Given the description of an element on the screen output the (x, y) to click on. 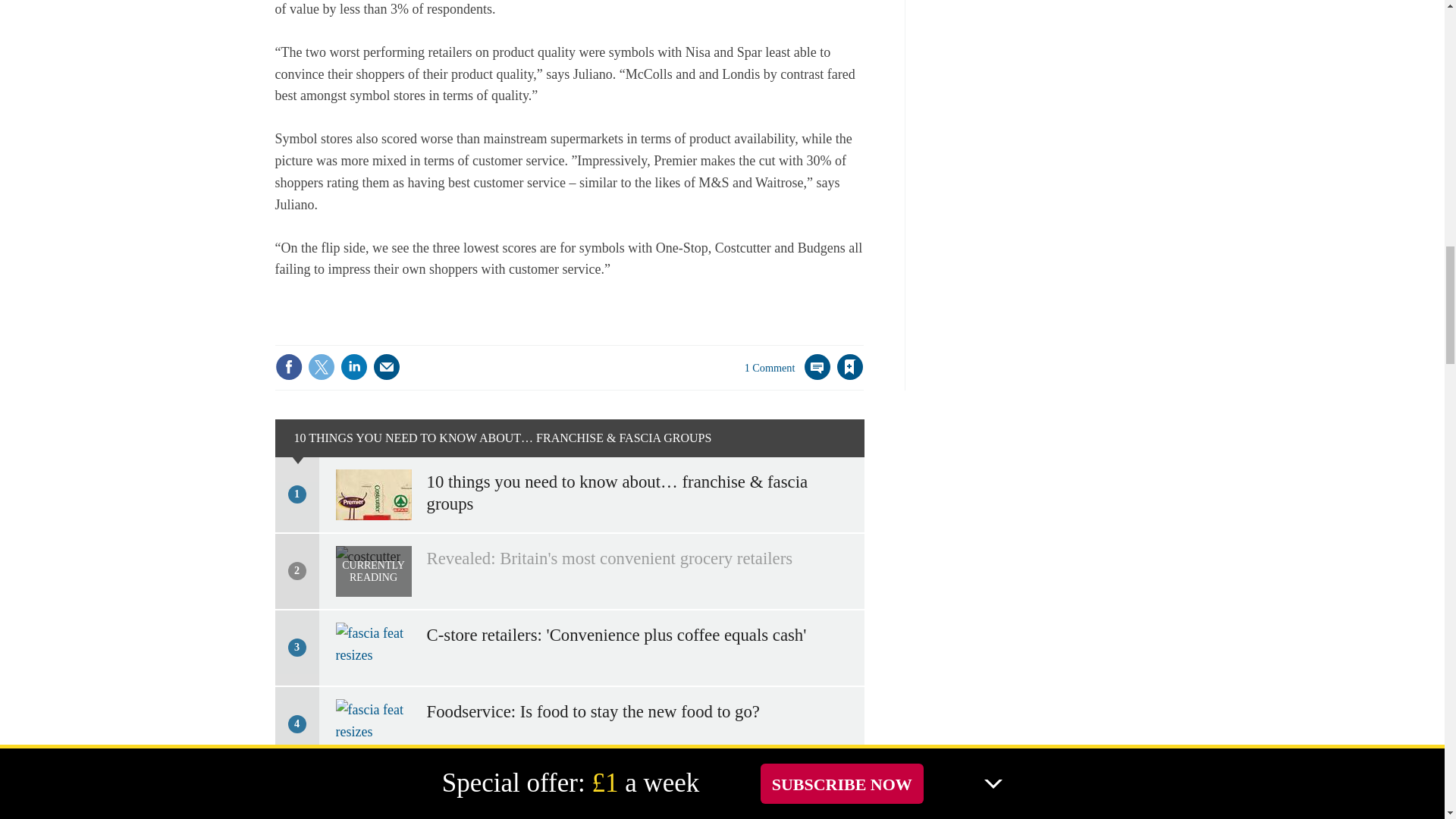
1 Comment (787, 376)
Share this on Twitter (320, 366)
Email this article (386, 366)
Share this on Facebook (288, 366)
Share this on Linked in (352, 366)
